Given the description of an element on the screen output the (x, y) to click on. 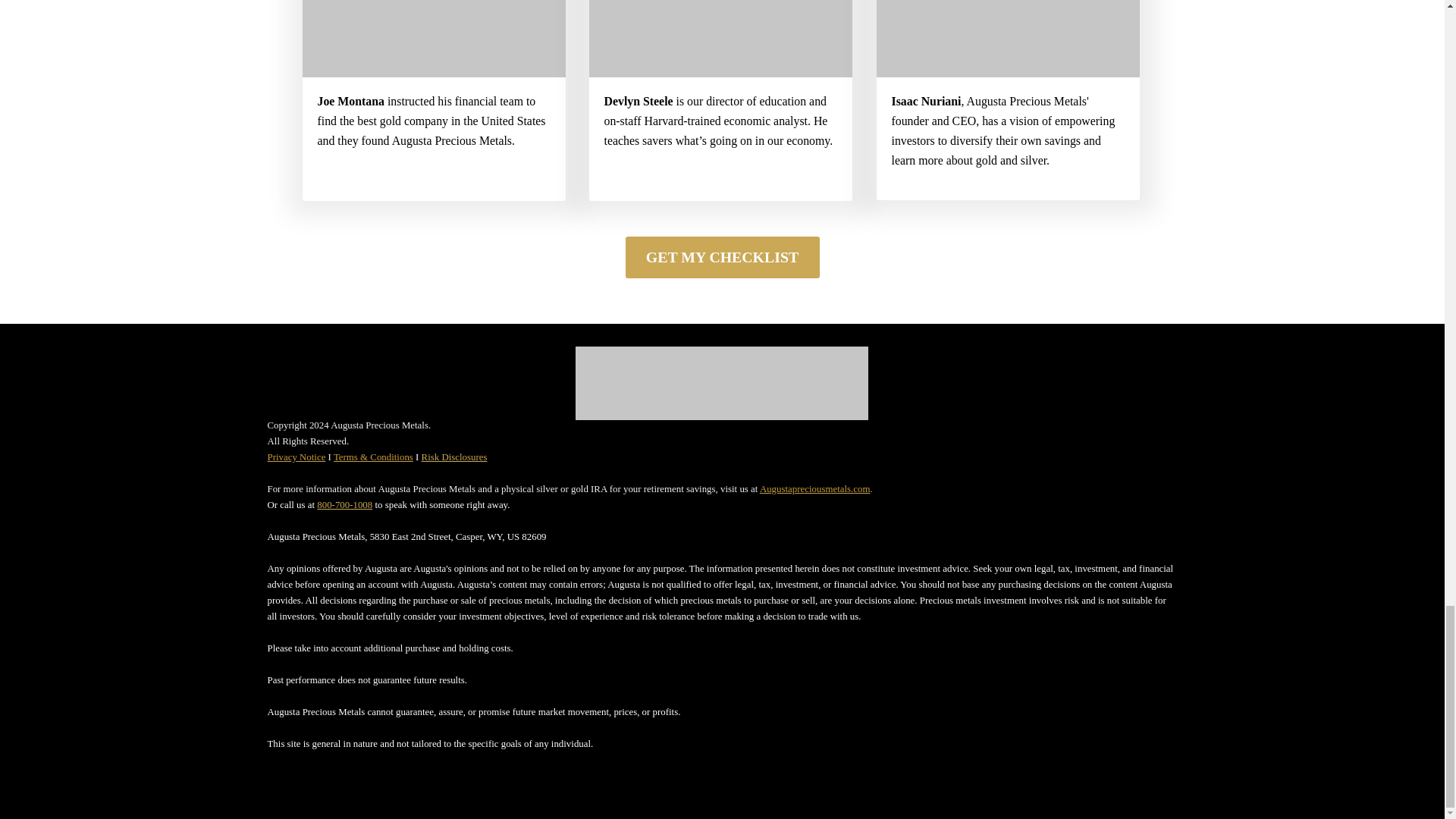
GET MY CHECKLIST (721, 257)
Augustapreciousmetals.com. (816, 489)
Risk Disclosures (454, 457)
800-700-1008 (344, 504)
Privacy Notice (295, 457)
